Given the description of an element on the screen output the (x, y) to click on. 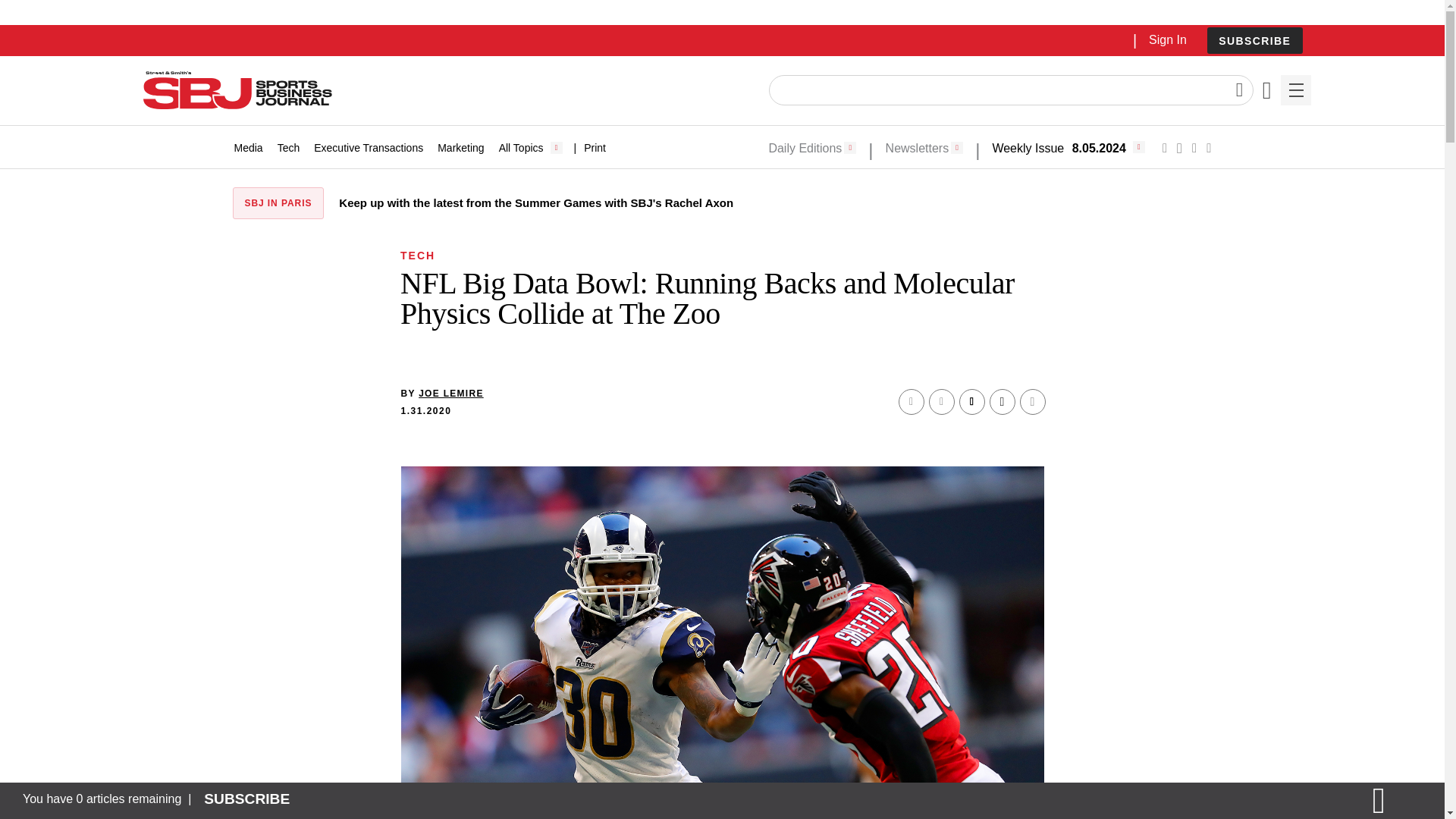
SIGN IN (1194, 324)
Menu (1294, 90)
SUBSCRIBE (1255, 40)
Sign In (1167, 40)
SUBSCRIBE (1254, 40)
